Given the description of an element on the screen output the (x, y) to click on. 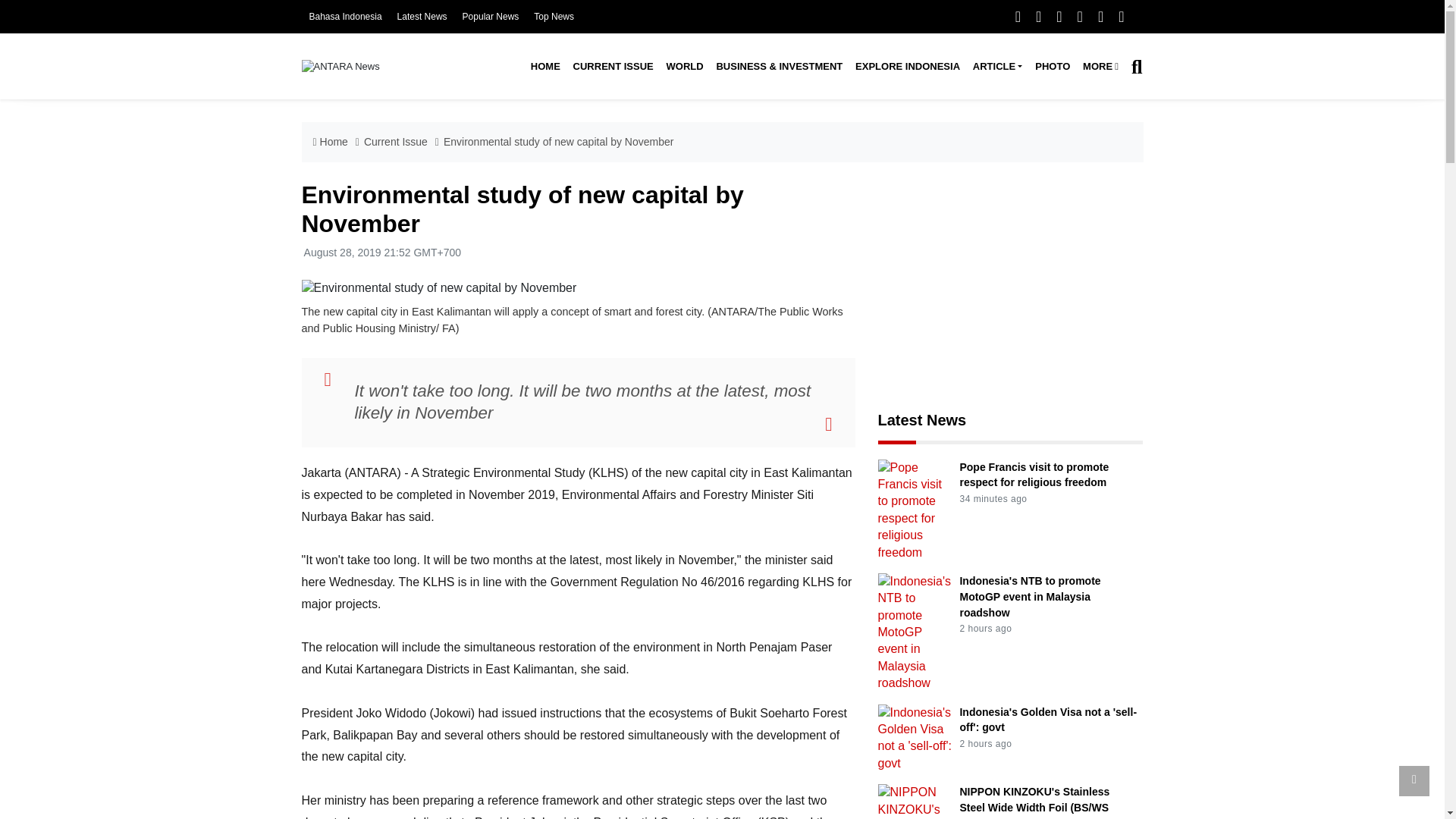
EXPLORE INDONESIA (907, 66)
ARTICLE (996, 66)
Bahasa Indonesia (344, 16)
Top News (553, 16)
Bahasa Indonesia (344, 16)
Top News (553, 16)
CURRENT ISSUE (612, 66)
Popular News (491, 16)
Article (996, 66)
